Given the description of an element on the screen output the (x, y) to click on. 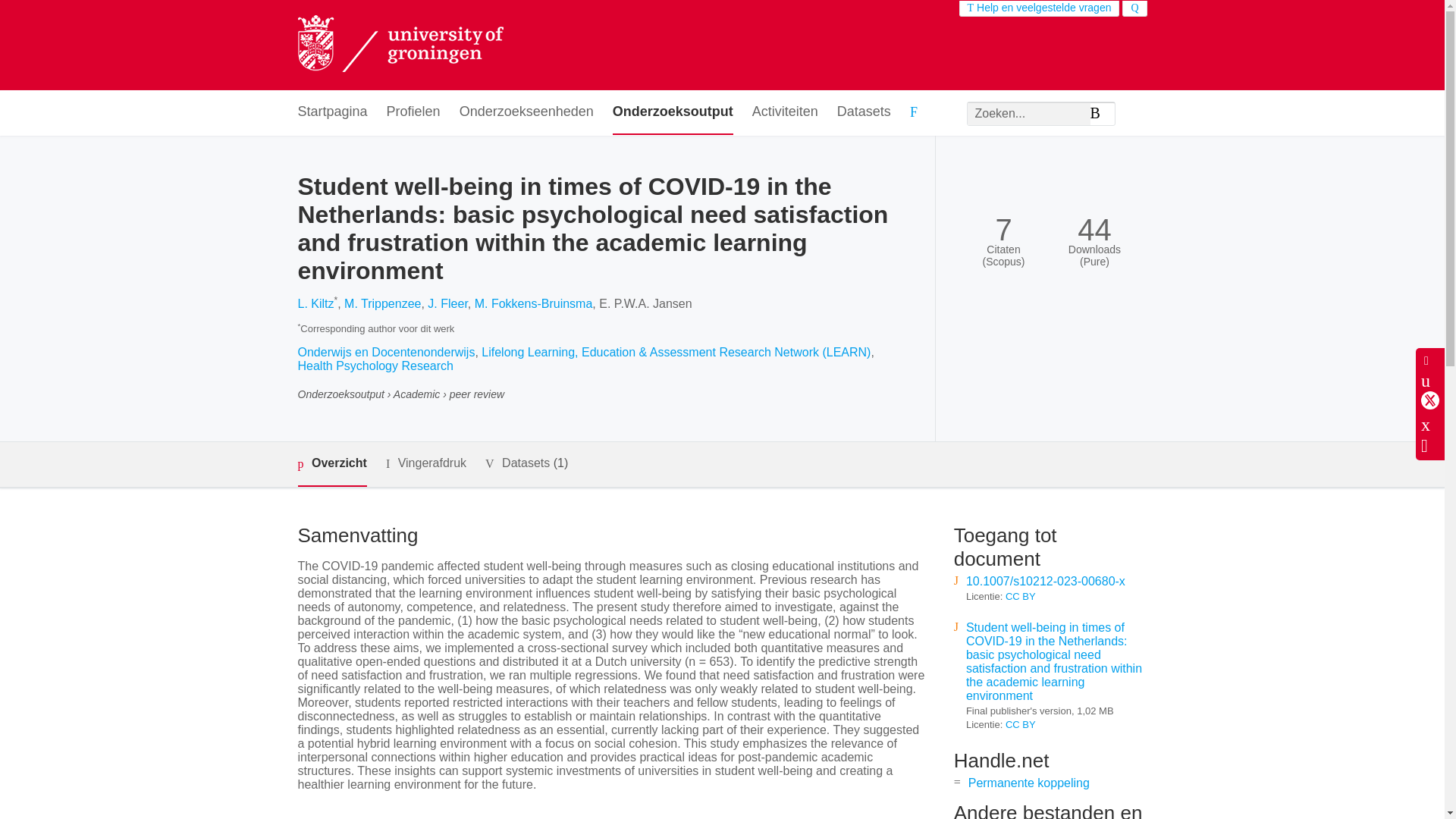
Profielen (414, 112)
L. Kiltz (315, 303)
M. Fokkens-Bruinsma (533, 303)
Overzicht (331, 464)
Vingerafdruk (425, 463)
Permanente koppeling (1028, 782)
CC BY (1020, 595)
J. Fleer (447, 303)
